Given the description of an element on the screen output the (x, y) to click on. 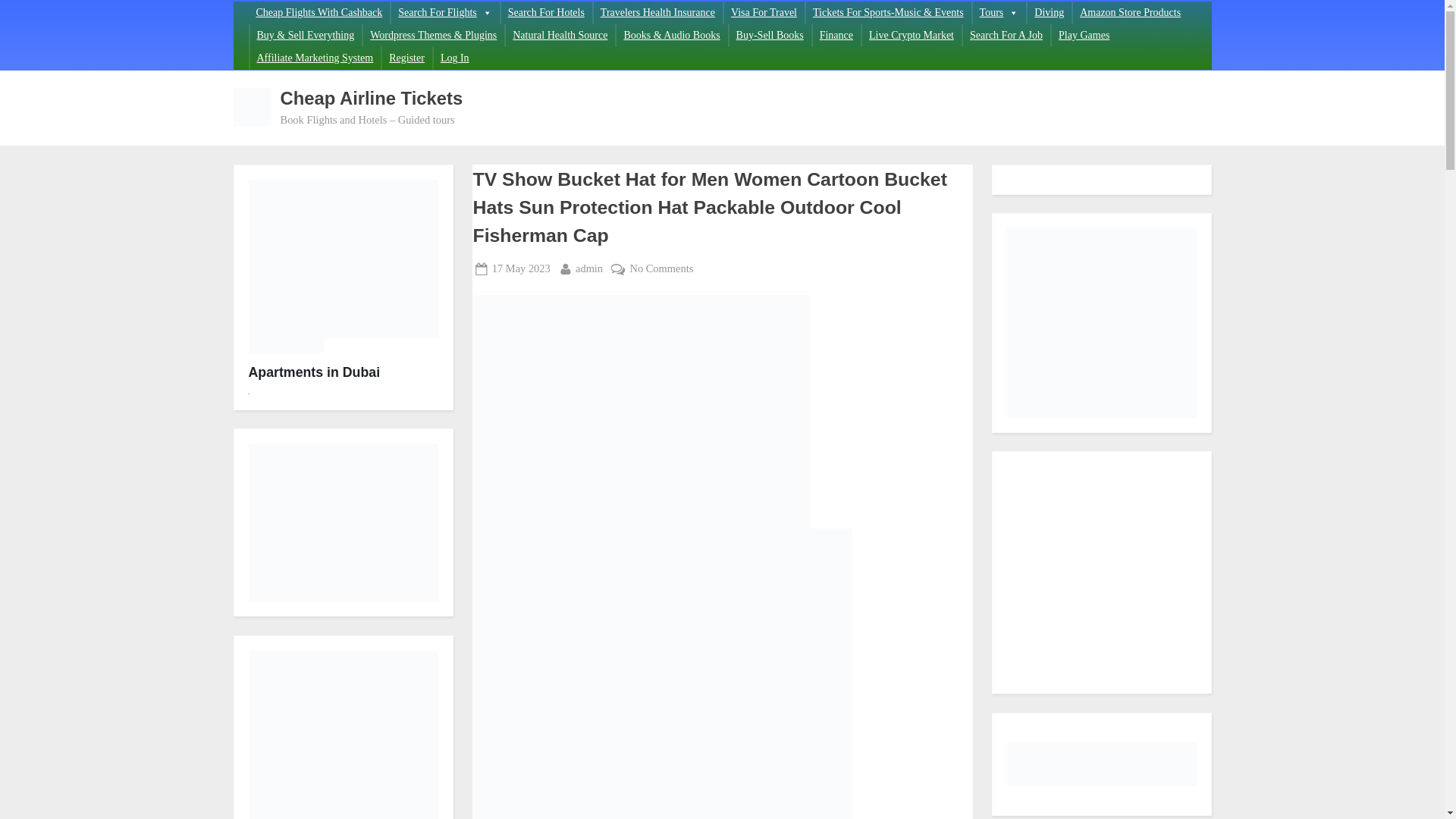
Amazon Store Products (1129, 12)
Visa For Travel (764, 12)
Register (521, 268)
Affiliate Marketing System (406, 57)
Cheap Flights With Cashback (314, 57)
Buy-Sell Books (319, 12)
Diving (769, 35)
Register (1048, 12)
